Given the description of an element on the screen output the (x, y) to click on. 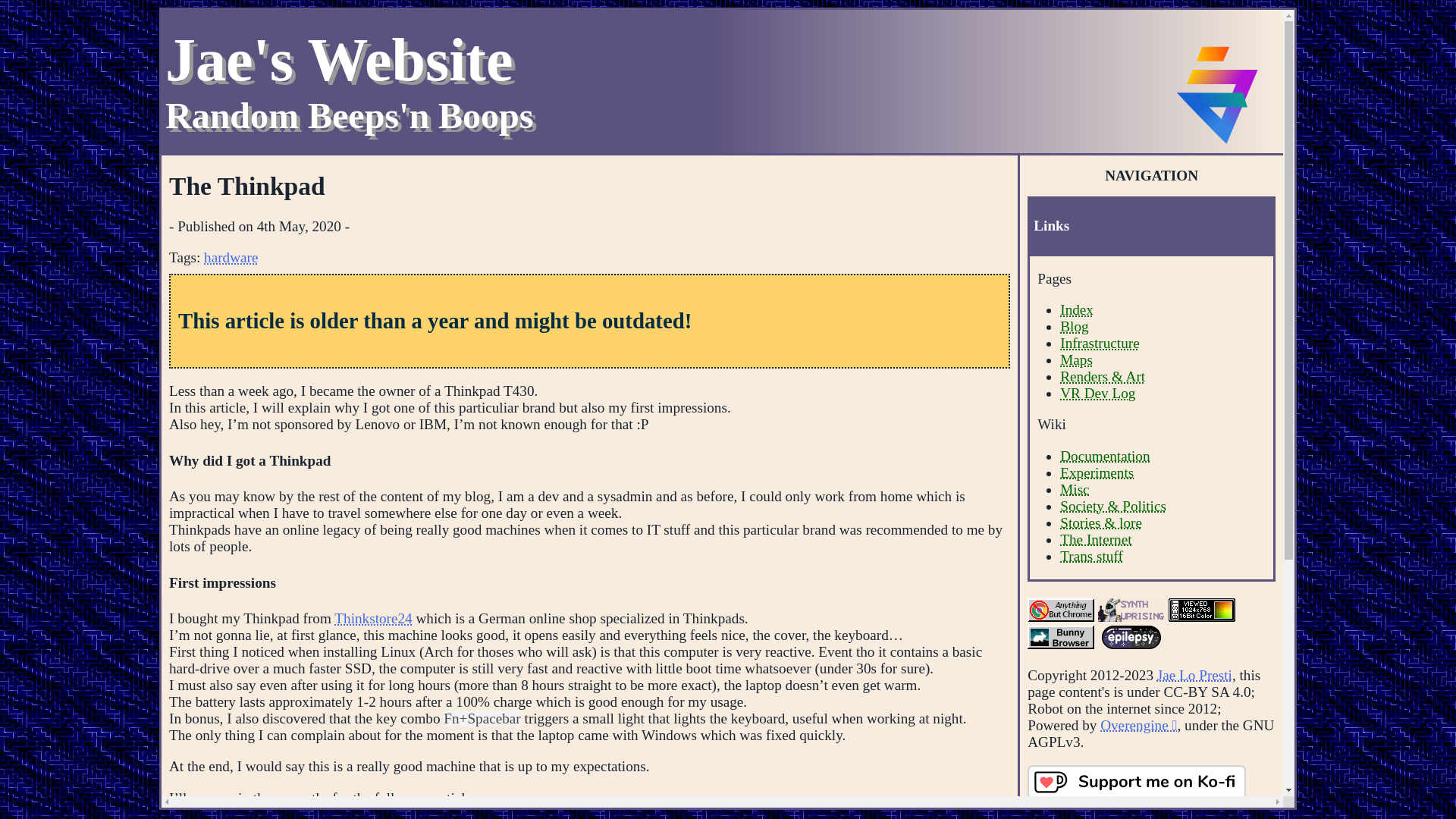
Experiments (1096, 472)
Infrastructure (1098, 342)
Trans stuff (1090, 555)
Maps (1076, 359)
Thinkstore24 (373, 618)
VR Dev Log (1097, 392)
Blog (348, 81)
Index (1073, 326)
Jae Lo Presti (1076, 309)
